Given the description of an element on the screen output the (x, y) to click on. 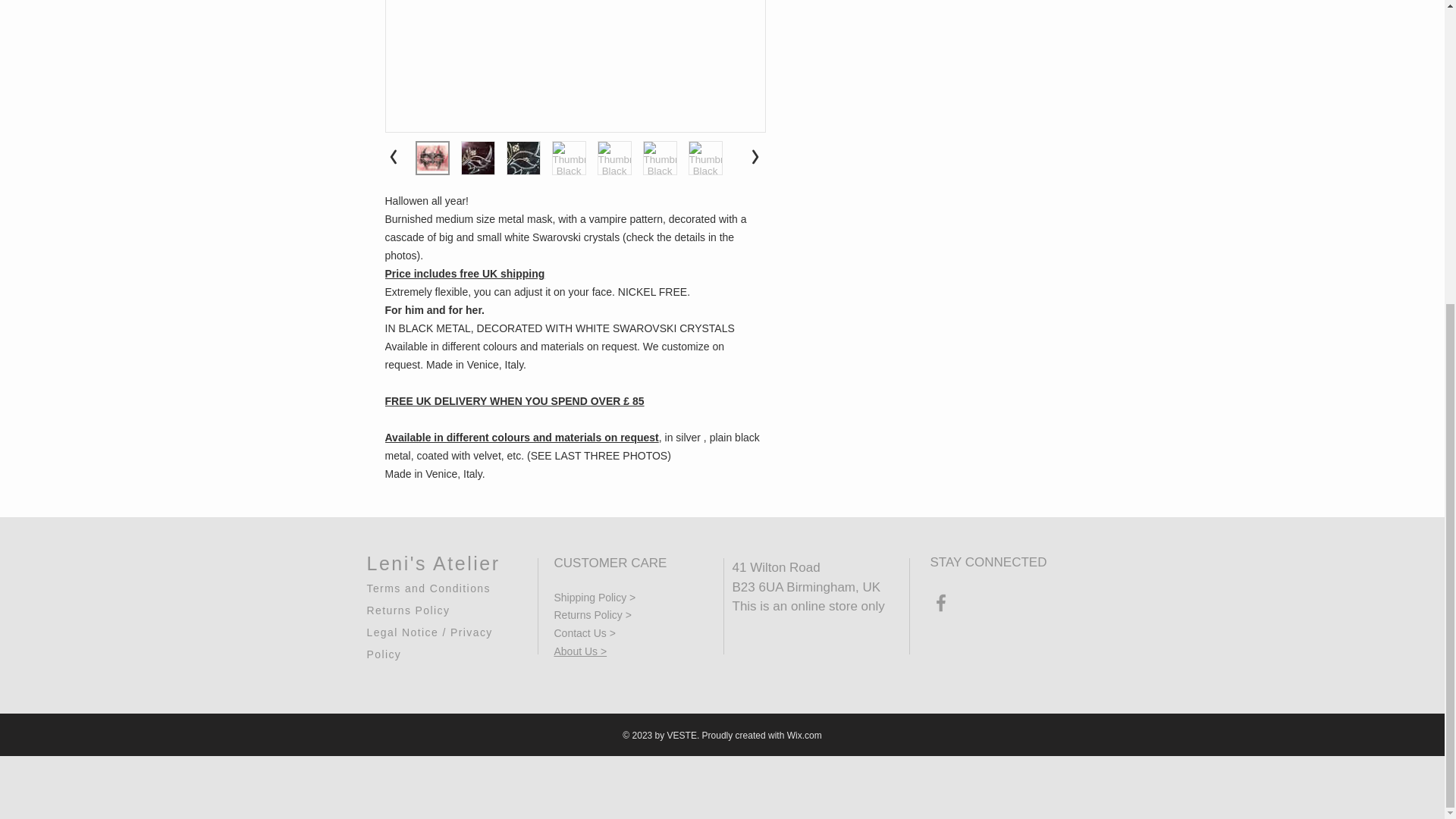
Leni's Atelier (433, 563)
Terms and Conditions (428, 585)
Returns Policy (407, 607)
